Given the description of an element on the screen output the (x, y) to click on. 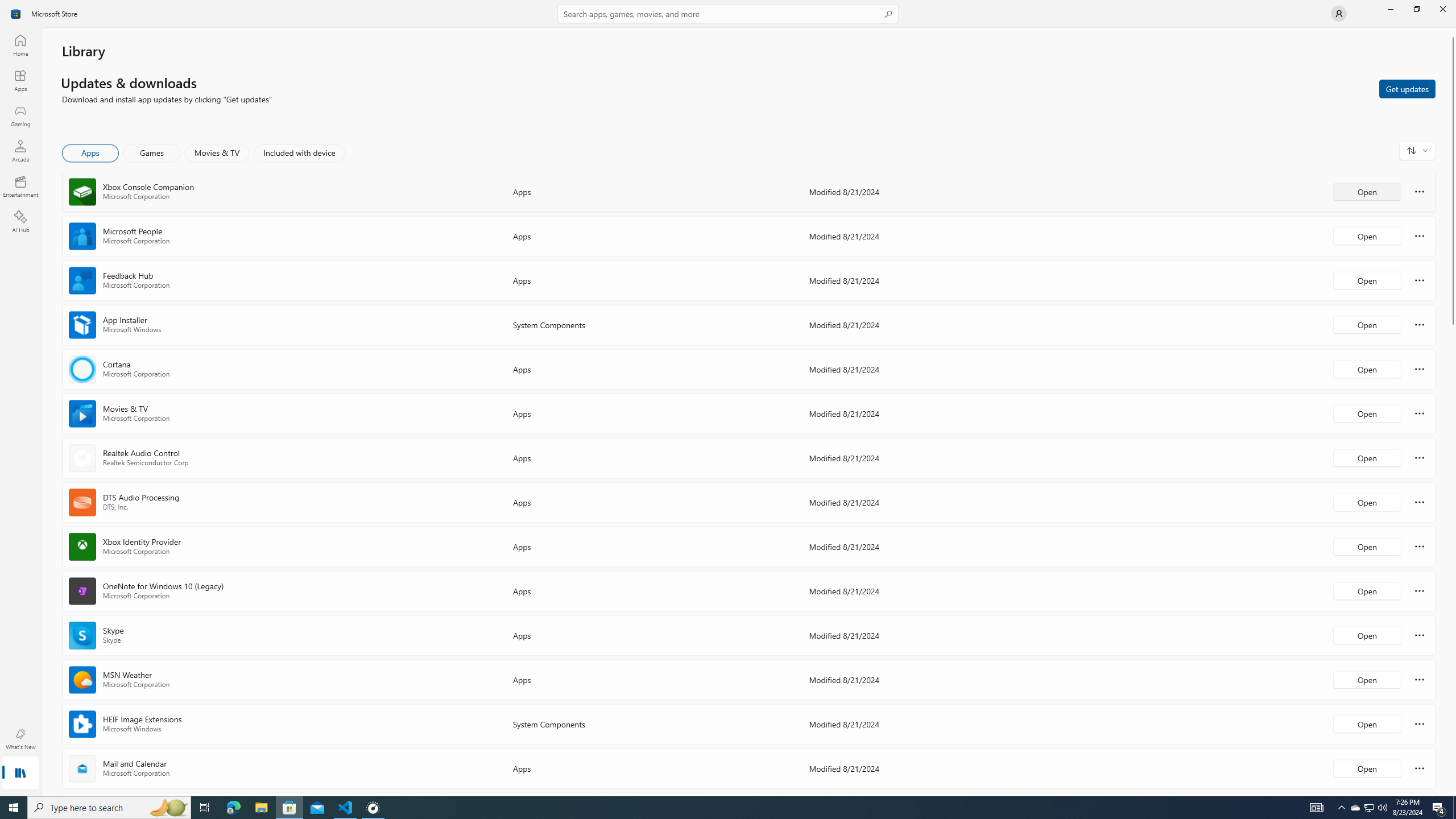
Library (20, 773)
Class: Image (15, 13)
Games (151, 153)
Restore Microsoft Store (1416, 9)
Get updates (1406, 88)
Close Microsoft Store (1442, 9)
Arcade (20, 150)
Apps (20, 80)
Vertical (1452, 412)
AutomationID: NavigationControl (728, 398)
Vertical Large Increase (1452, 557)
Entertainment (20, 185)
Minimize Microsoft Store (1390, 9)
Vertical Small Increase (1452, 792)
What's New (20, 738)
